Given the description of an element on the screen output the (x, y) to click on. 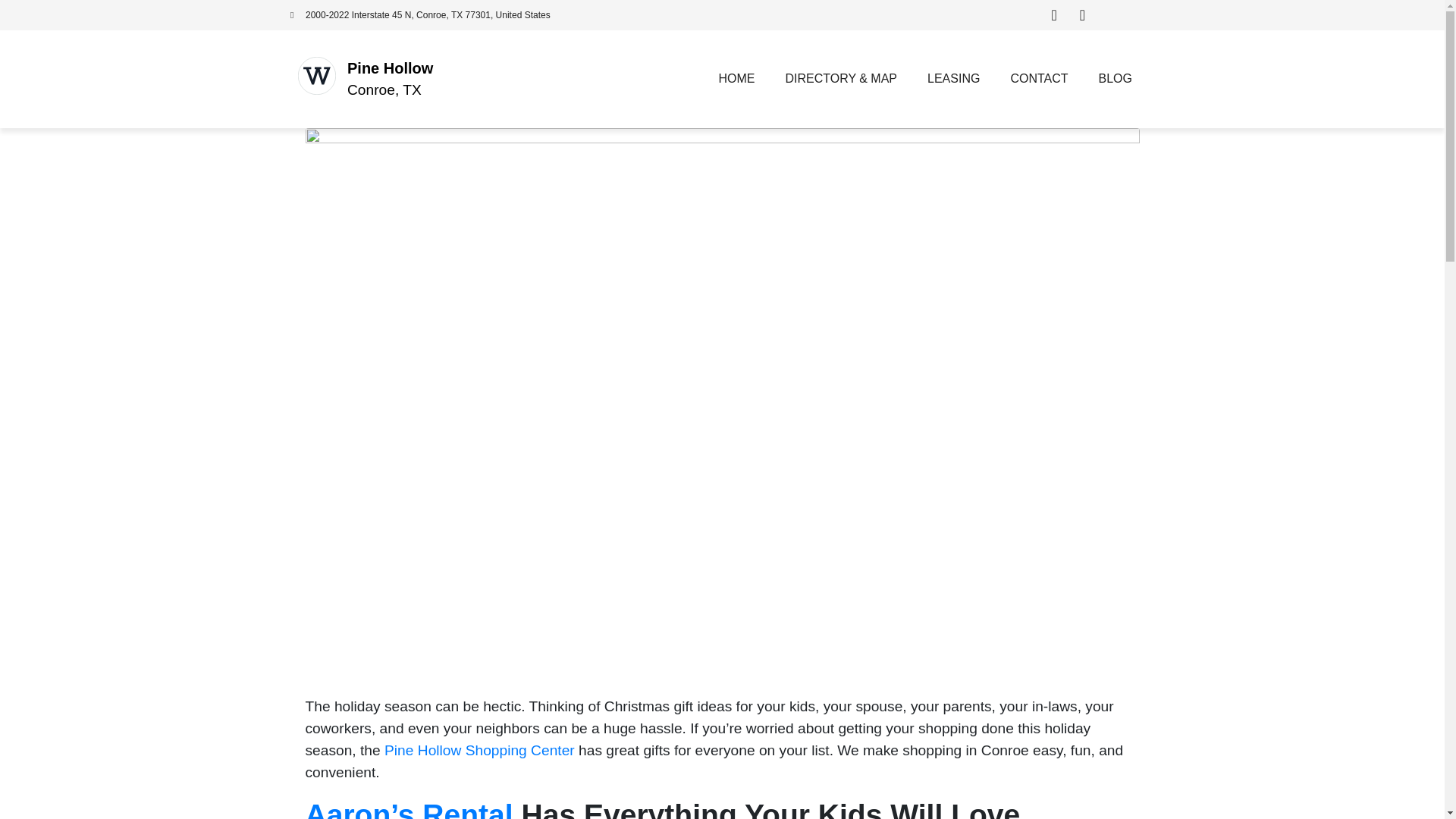
BLOG (1115, 78)
LEASING (953, 78)
Pine Hollow (389, 67)
Pine Hollow Shopping Center (477, 750)
CONTACT (1038, 78)
HOME (736, 78)
